Given the description of an element on the screen output the (x, y) to click on. 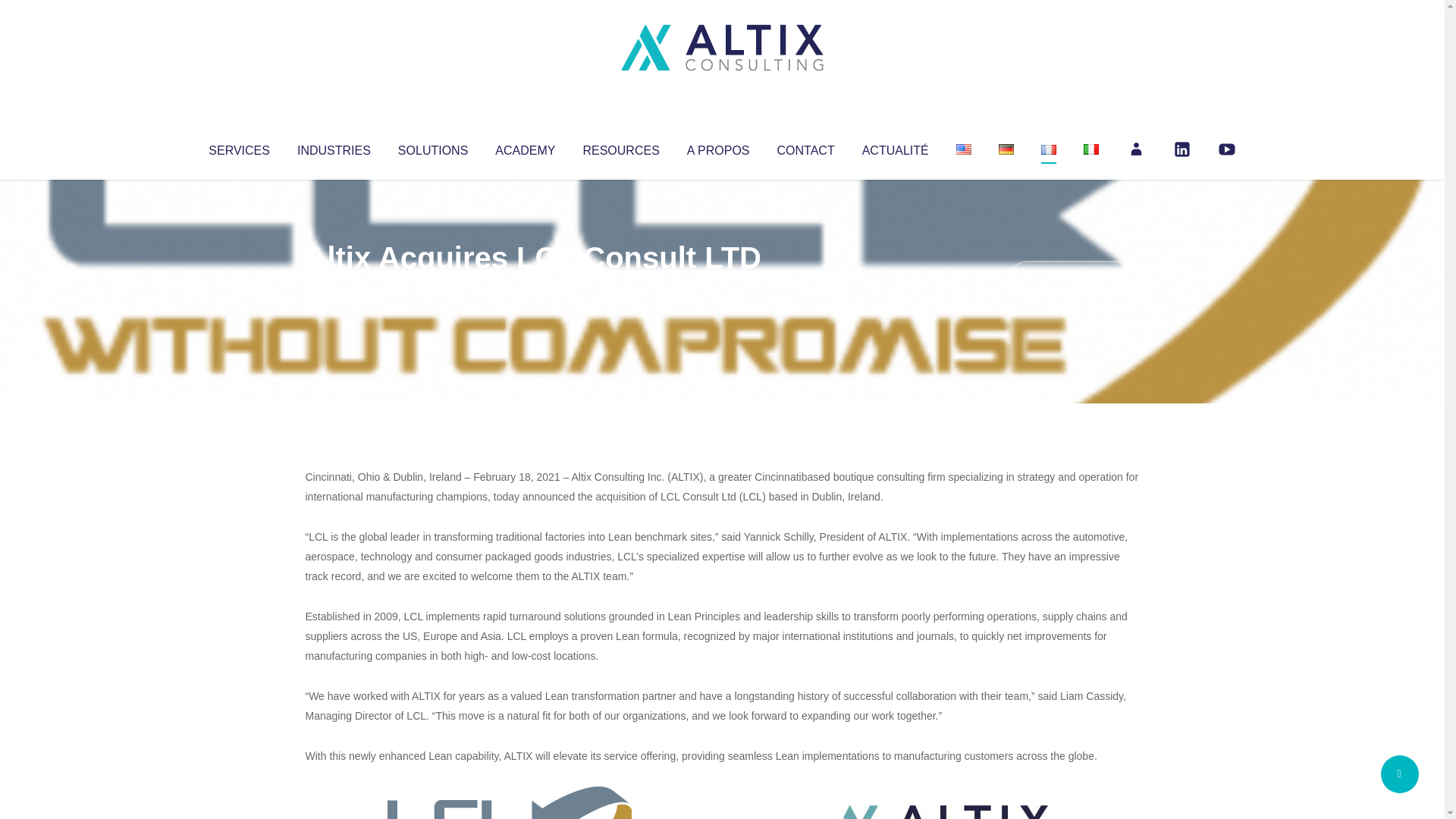
A PROPOS (718, 146)
RESOURCES (620, 146)
Articles par Altix (333, 287)
SERVICES (238, 146)
ACADEMY (524, 146)
Altix (333, 287)
No Comments (1073, 278)
INDUSTRIES (334, 146)
SOLUTIONS (432, 146)
Uncategorized (530, 287)
